Given the description of an element on the screen output the (x, y) to click on. 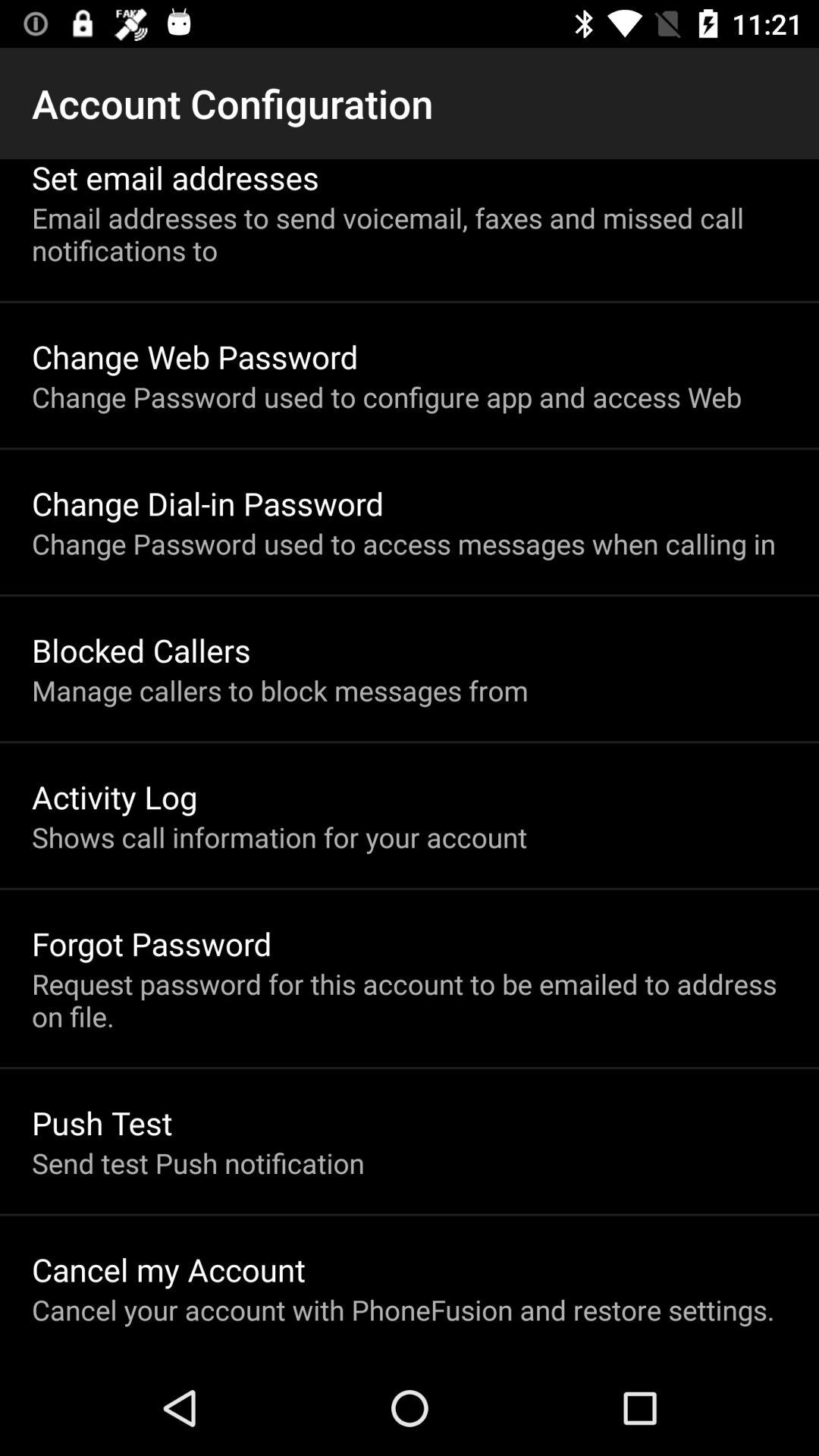
tap forgot password icon (151, 943)
